Given the description of an element on the screen output the (x, y) to click on. 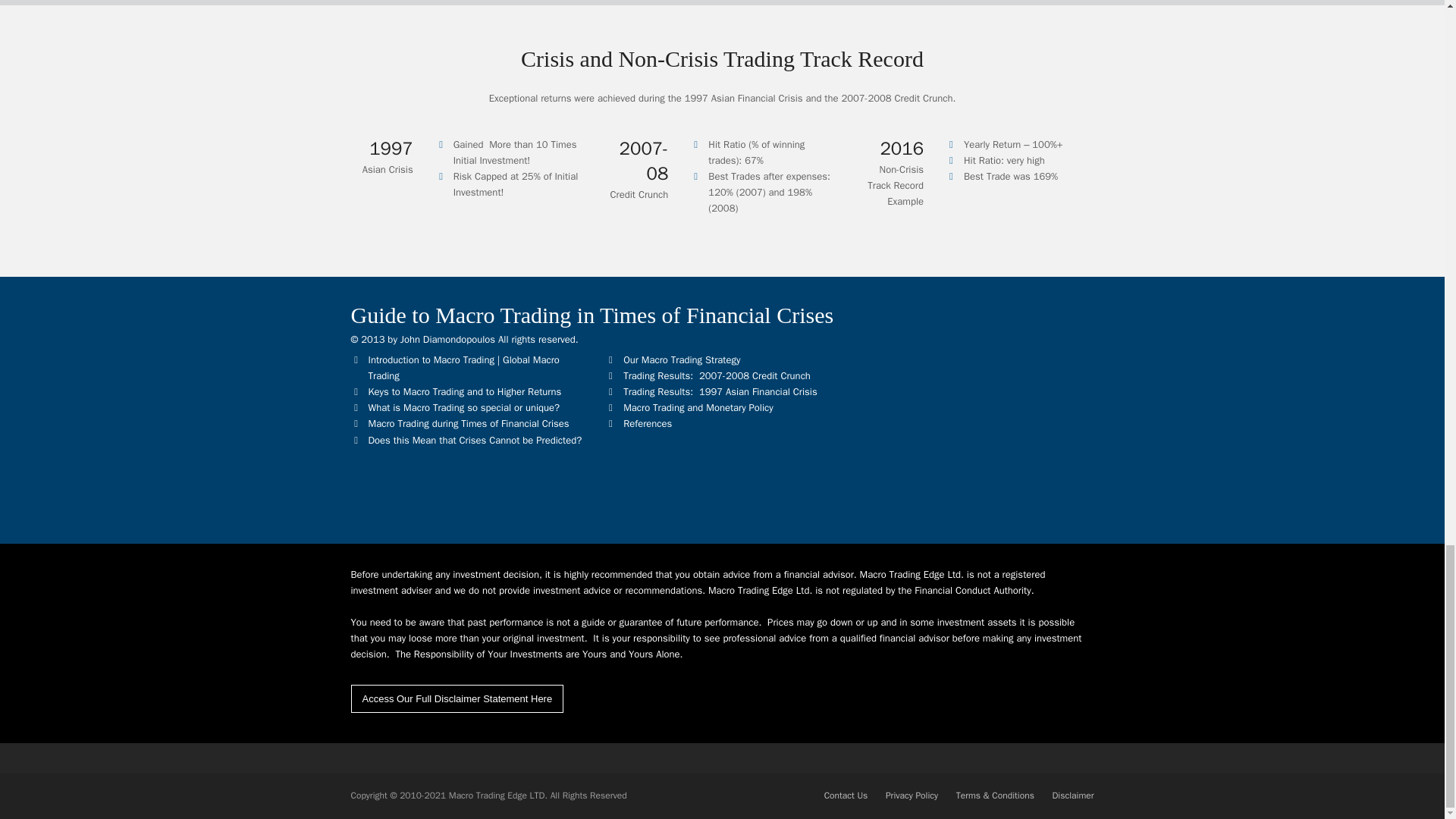
Disclaimer (1072, 795)
Access Our Full Disclaimer Statement Here (456, 698)
Contact Us (845, 795)
Privacy Policy (911, 795)
